Given the description of an element on the screen output the (x, y) to click on. 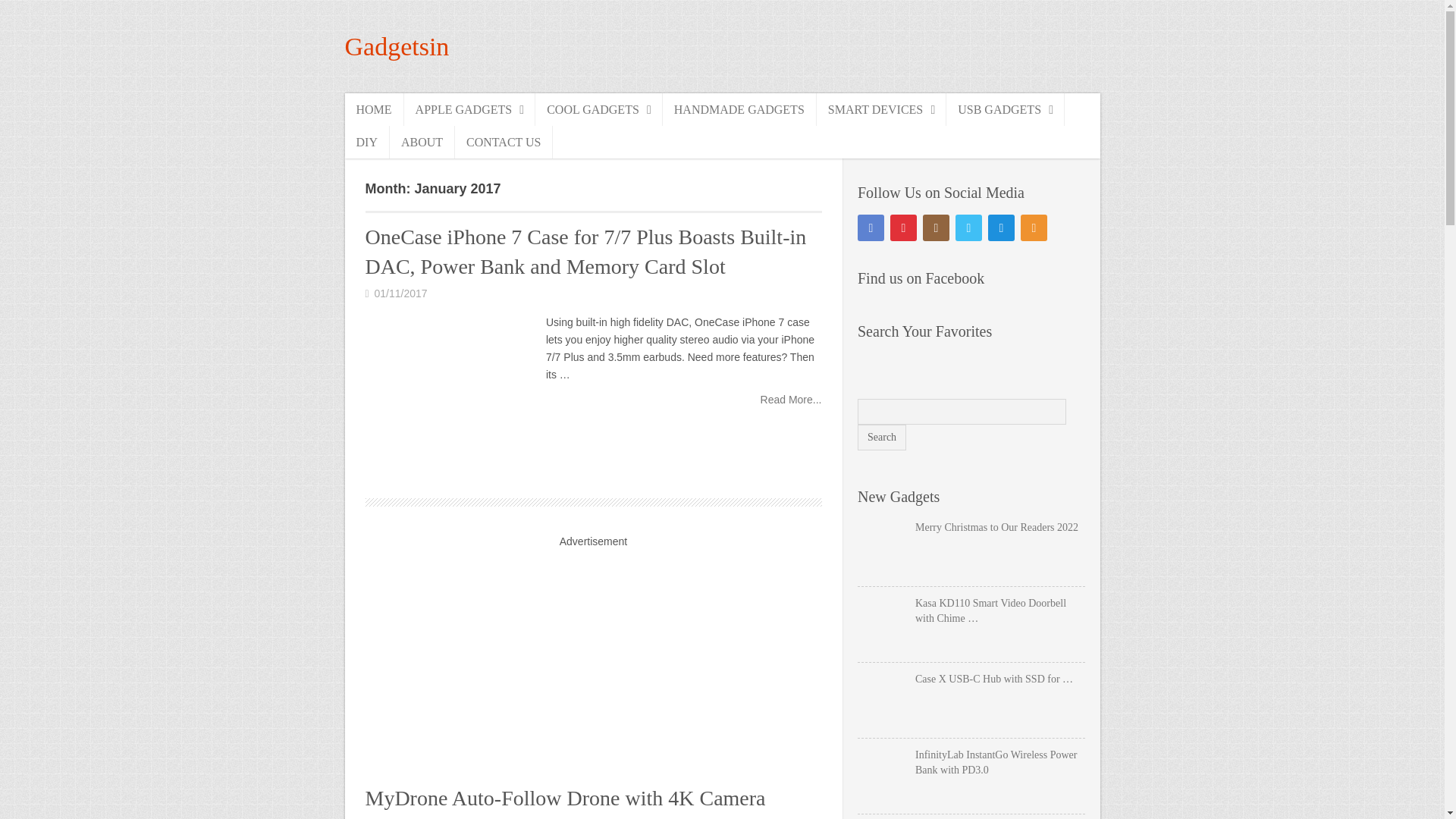
MyDrone Auto-Follow Drone with 4K Camera (565, 797)
CONTACT US (503, 142)
USB GADGETS (1005, 109)
COOL GADGETS (598, 109)
Gadgetsin (395, 46)
HOME (373, 109)
MyDrone Auto-Follow Drone with 4K Camera (565, 797)
HANDMADE GADGETS (739, 109)
Read More... (791, 399)
DIY (365, 142)
SMART DEVICES (881, 109)
APPLE GADGETS (469, 109)
ABOUT (422, 142)
Advertisement (592, 660)
Search (881, 437)
